Given the description of an element on the screen output the (x, y) to click on. 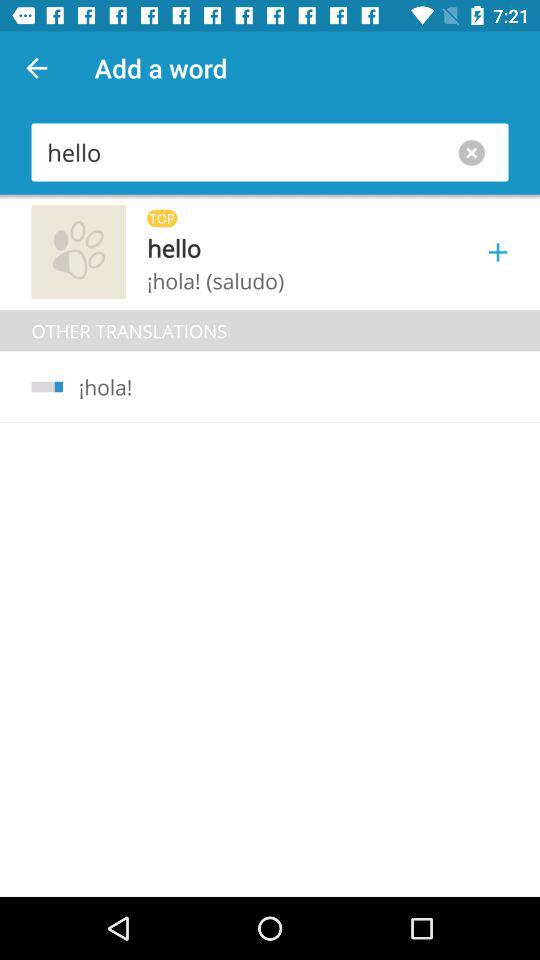
turn off the item above the hello icon (36, 68)
